Given the description of an element on the screen output the (x, y) to click on. 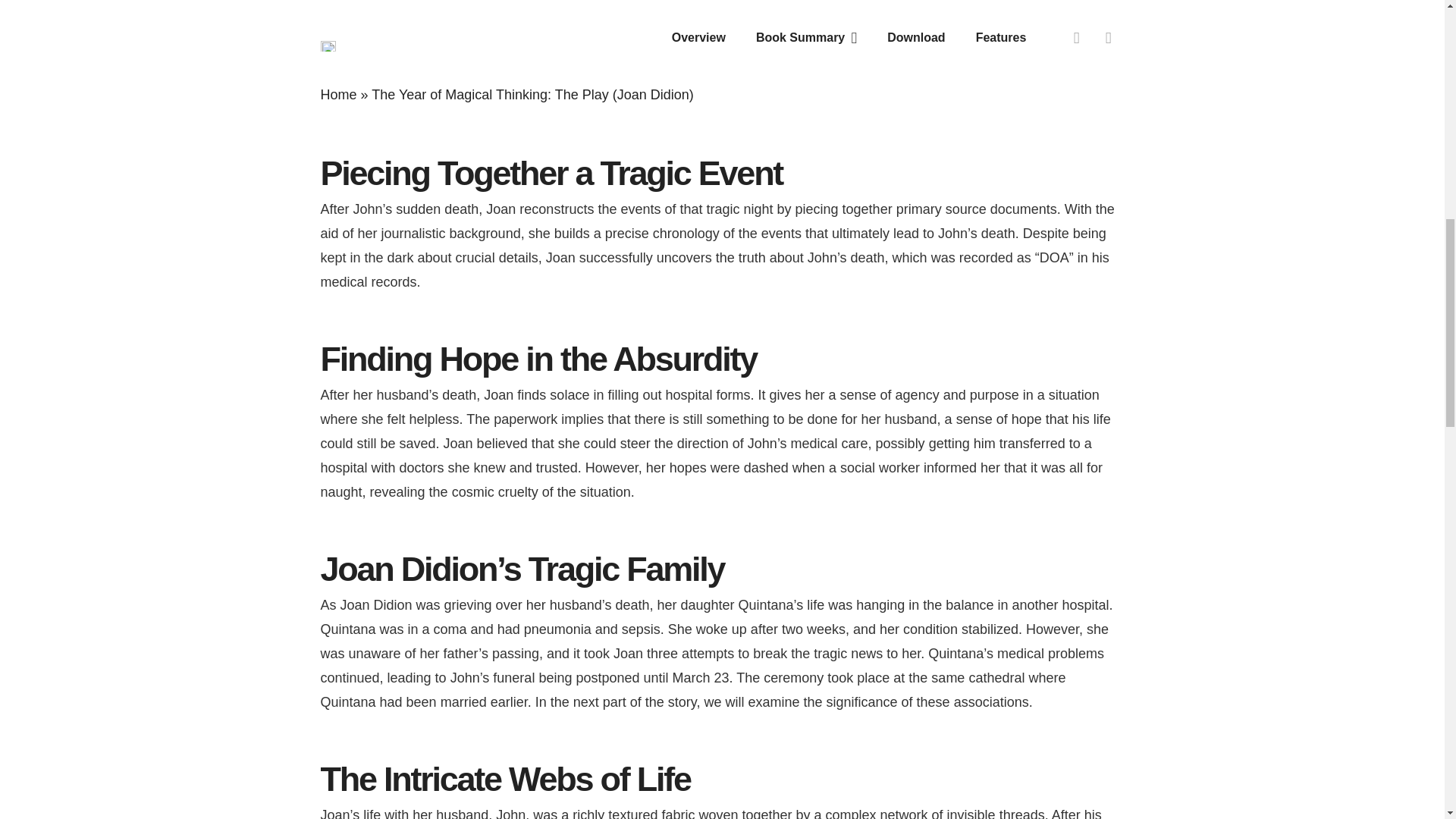
Back to top (1413, 37)
